Given the description of an element on the screen output the (x, y) to click on. 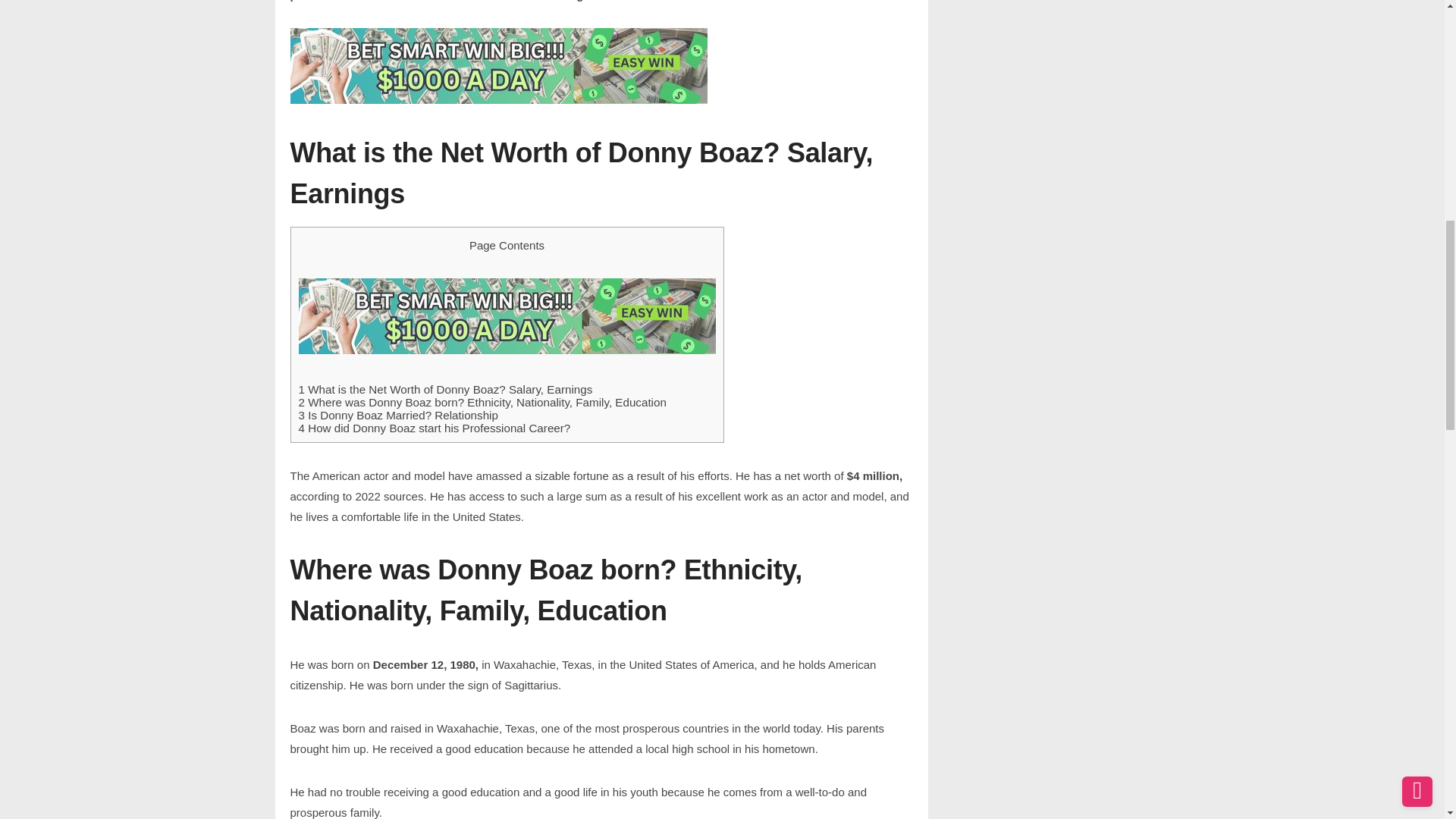
4 How did Donny Boaz start his Professional Career? (434, 427)
3 Is Donny Boaz Married? Relationship (397, 414)
1 What is the Net Worth of Donny Boaz? Salary, Earnings (445, 389)
